Given the description of an element on the screen output the (x, y) to click on. 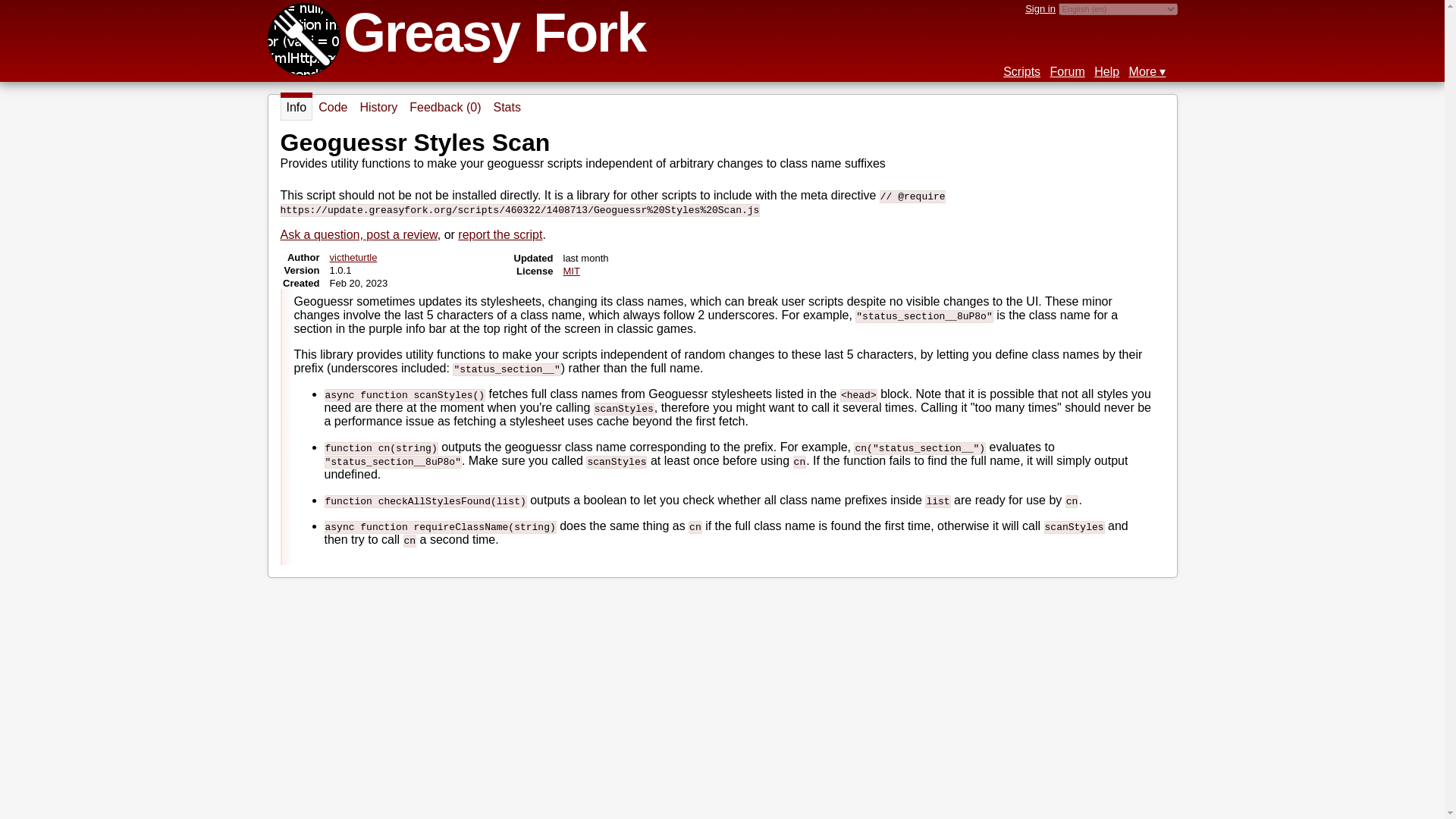
victheturtle (353, 256)
Greasy Fork (494, 32)
Stats (505, 107)
Ask a question, post a review (359, 234)
Help (1106, 71)
History (378, 107)
Code (333, 107)
Forum (1066, 71)
Scripts (1022, 71)
MIT (570, 270)
Sign in (1040, 8)
MIT License (570, 270)
report the script (499, 234)
More (1147, 71)
